Given the description of an element on the screen output the (x, y) to click on. 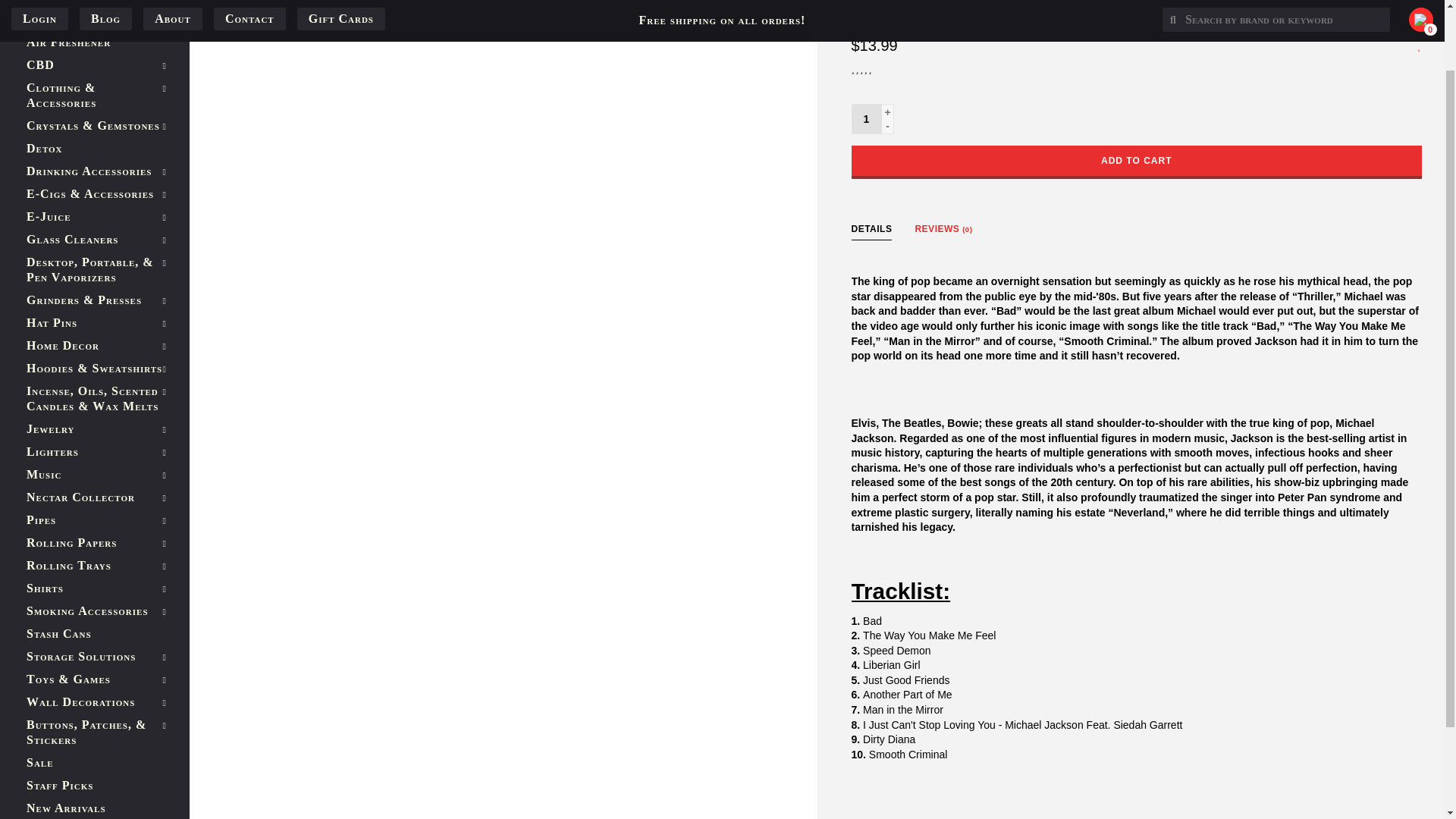
Air Freshener (94, 42)
1 (865, 119)
CBD (94, 65)
Air Freshener (94, 42)
CBD (94, 65)
See all categories (94, 19)
